Given the description of an element on the screen output the (x, y) to click on. 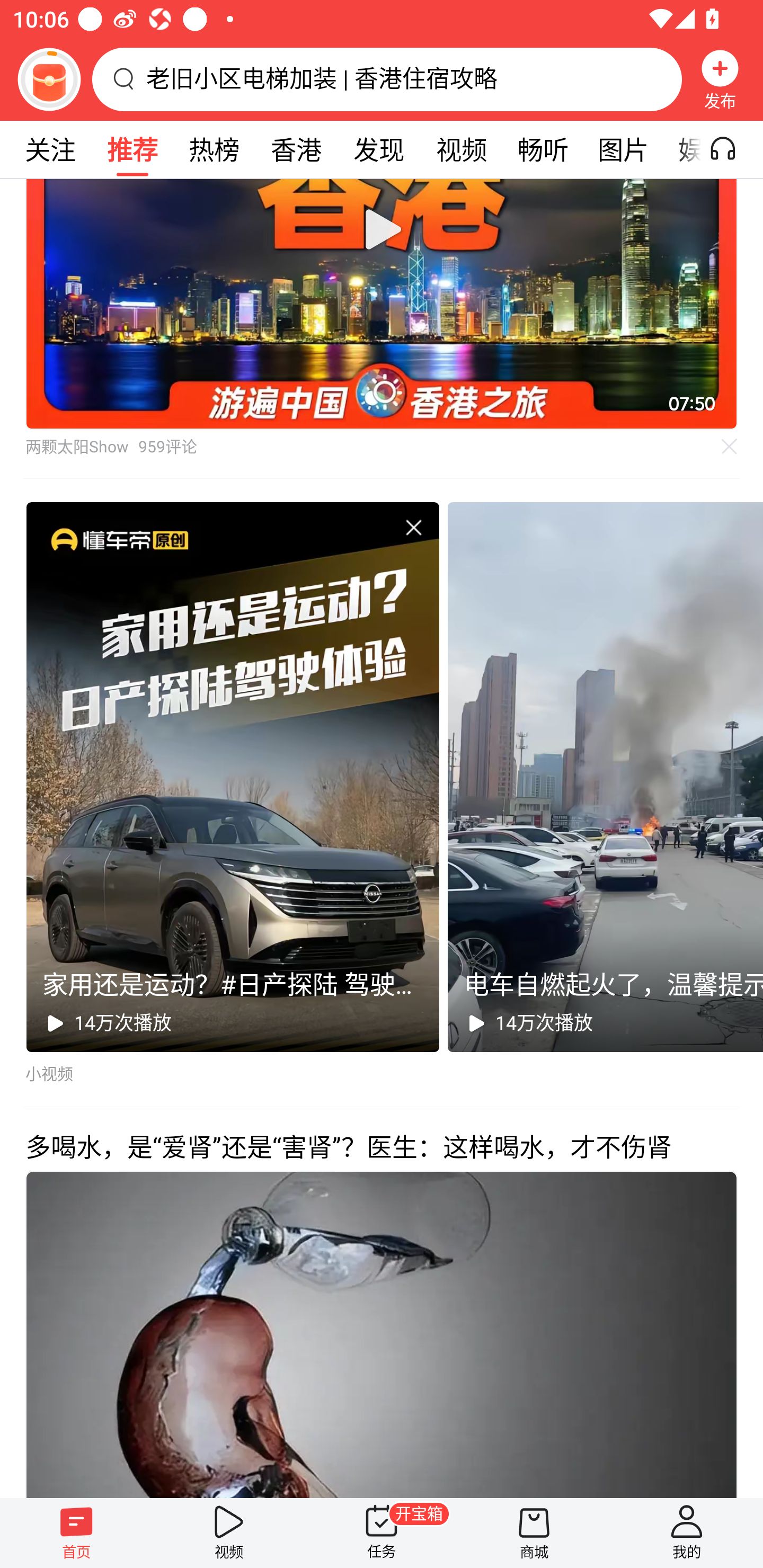
阅读赚金币 (48, 79)
老旧小区电梯加装 | 香港住宿攻略 搜索框，老旧小区电梯加装 | 香港住宿攻略 (387, 79)
发布 发布，按钮 (720, 78)
关注 (50, 149)
推荐 (132, 149)
热榜 (213, 149)
香港 (295, 149)
发现 (378, 149)
视频 (461, 149)
畅听 (542, 149)
图片 (623, 149)
听一听开关 (732, 149)
播放视频 视频播放器，双击屏幕打开播放控制 (381, 303)
播放视频 (381, 229)
不感兴趣 (729, 446)
不感兴趣 (413, 527)
多喝水，是“爱肾”还是“害肾”？医生：这样喝水，才不伤肾 (381, 1302)
首页 (76, 1532)
视频 (228, 1532)
任务 开宝箱 (381, 1532)
商城 (533, 1532)
我的 (686, 1532)
